Given the description of an element on the screen output the (x, y) to click on. 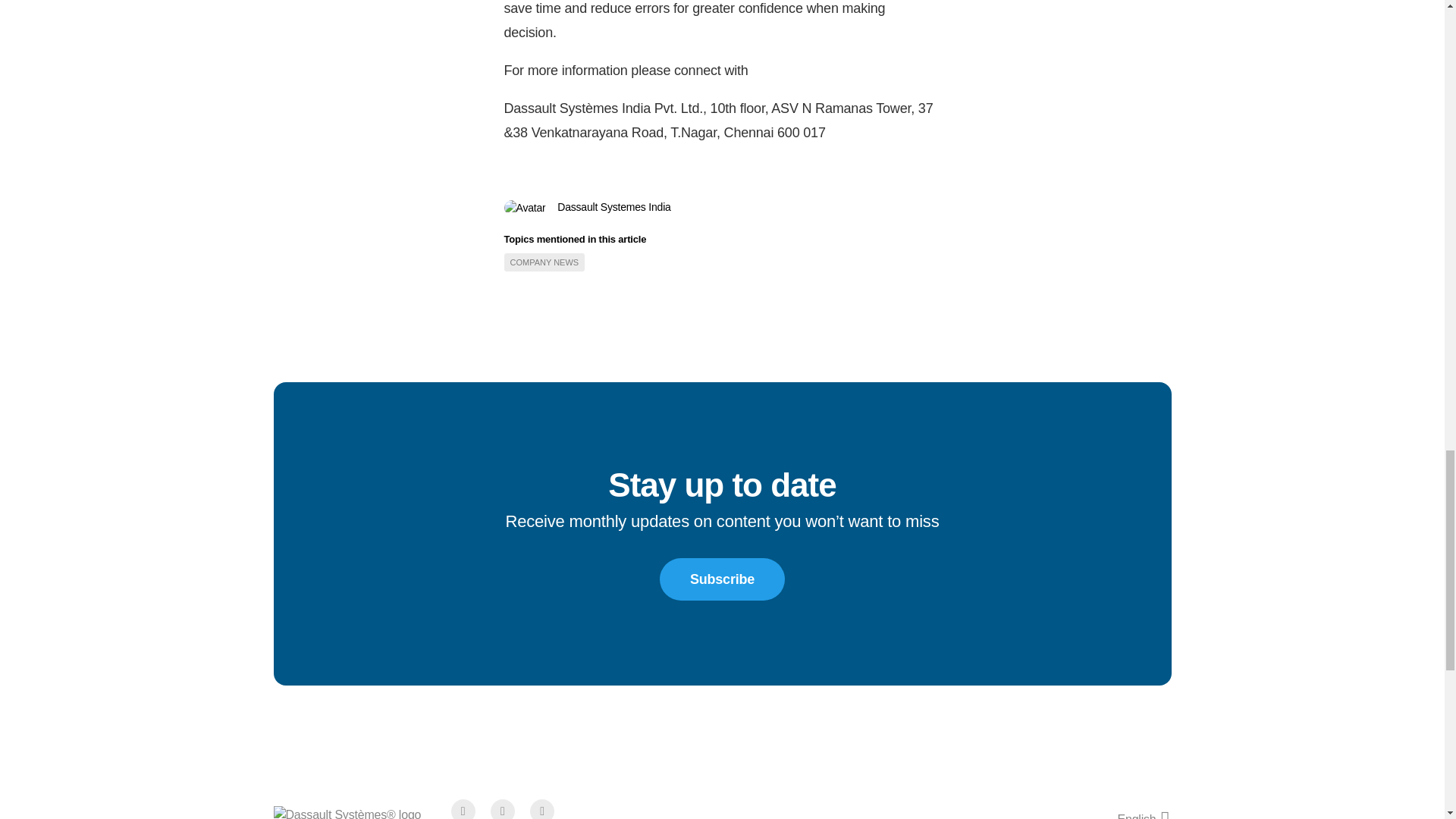
Linkedin account (541, 809)
Twitter account (502, 809)
Facebook account (463, 809)
